Given the description of an element on the screen output the (x, y) to click on. 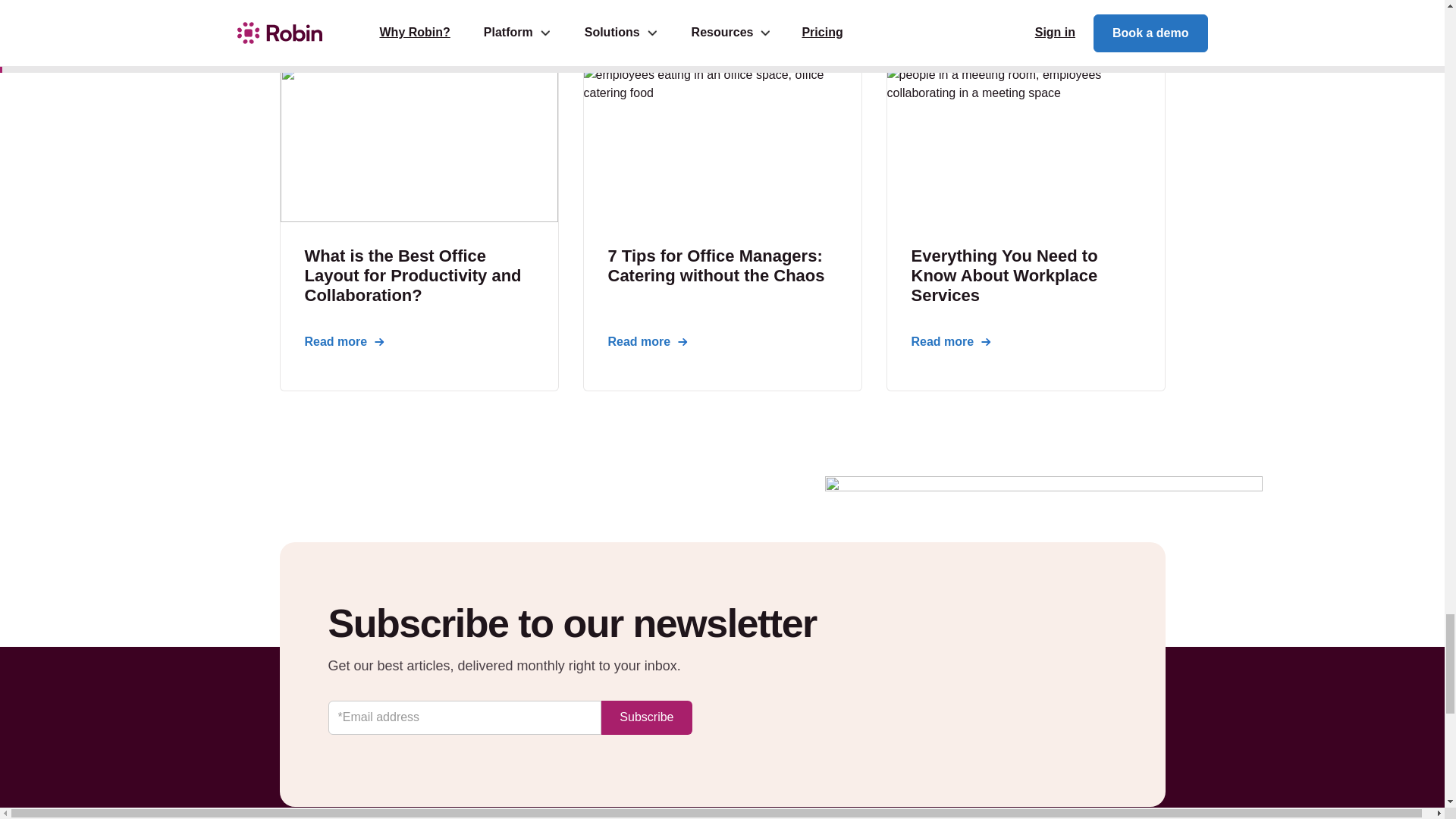
Subscribe (646, 717)
